Given the description of an element on the screen output the (x, y) to click on. 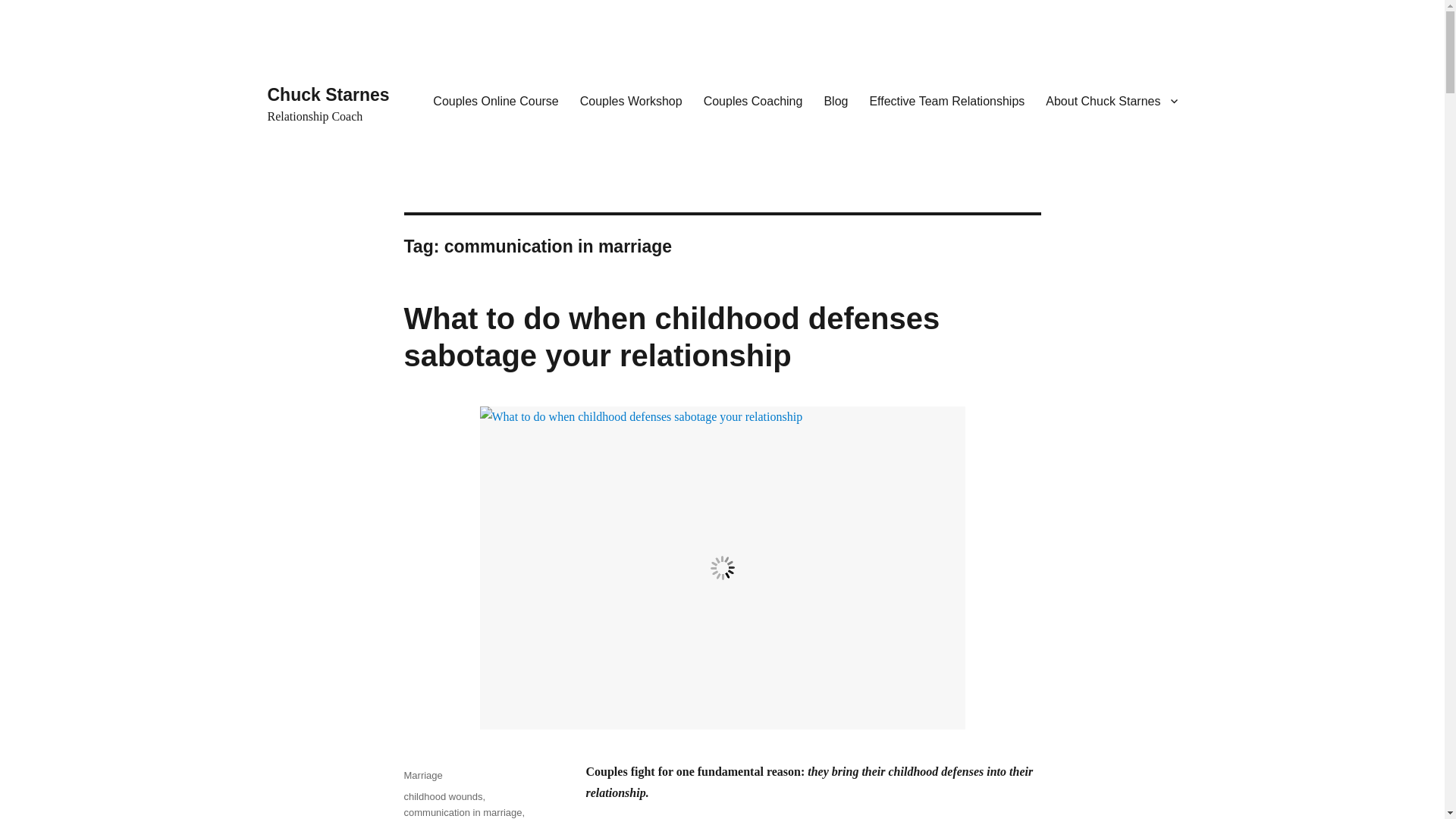
Couples Workshop (631, 101)
Marriage (422, 775)
Chuck Starnes (327, 94)
Couples Coaching (753, 101)
Couples Online Course (495, 101)
Blog (835, 101)
childhood wounds (442, 796)
communication in marriage (462, 812)
Effective Team Relationships (947, 101)
About Chuck Starnes (1111, 101)
